Given the description of an element on the screen output the (x, y) to click on. 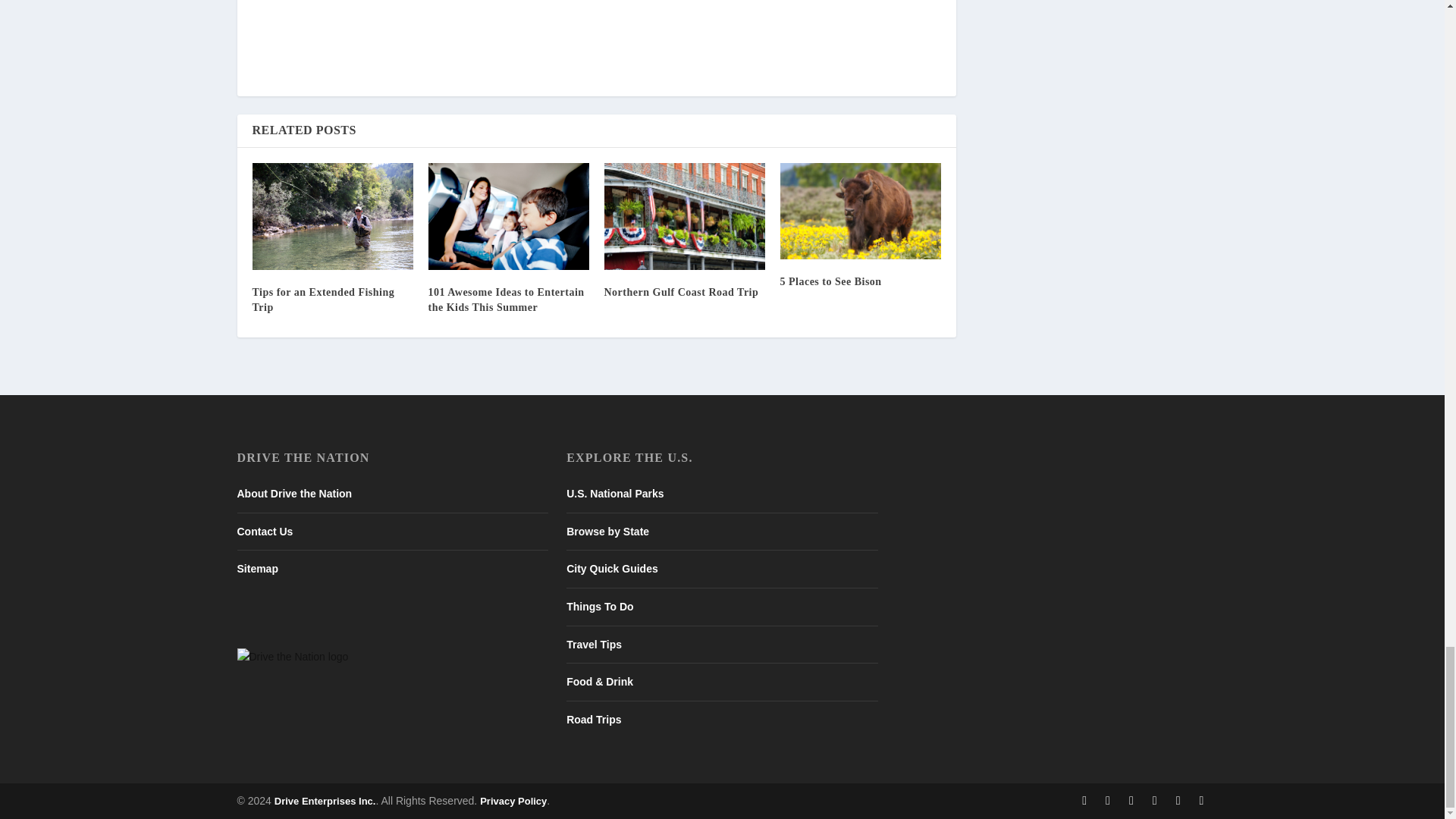
Northern Gulf Coast Road Trip (684, 216)
5 Places to See Bison (859, 210)
101 Awesome Ideas to Entertain the Kids This Summer (508, 216)
Tips for an Extended Fishing Trip (331, 216)
